Given the description of an element on the screen output the (x, y) to click on. 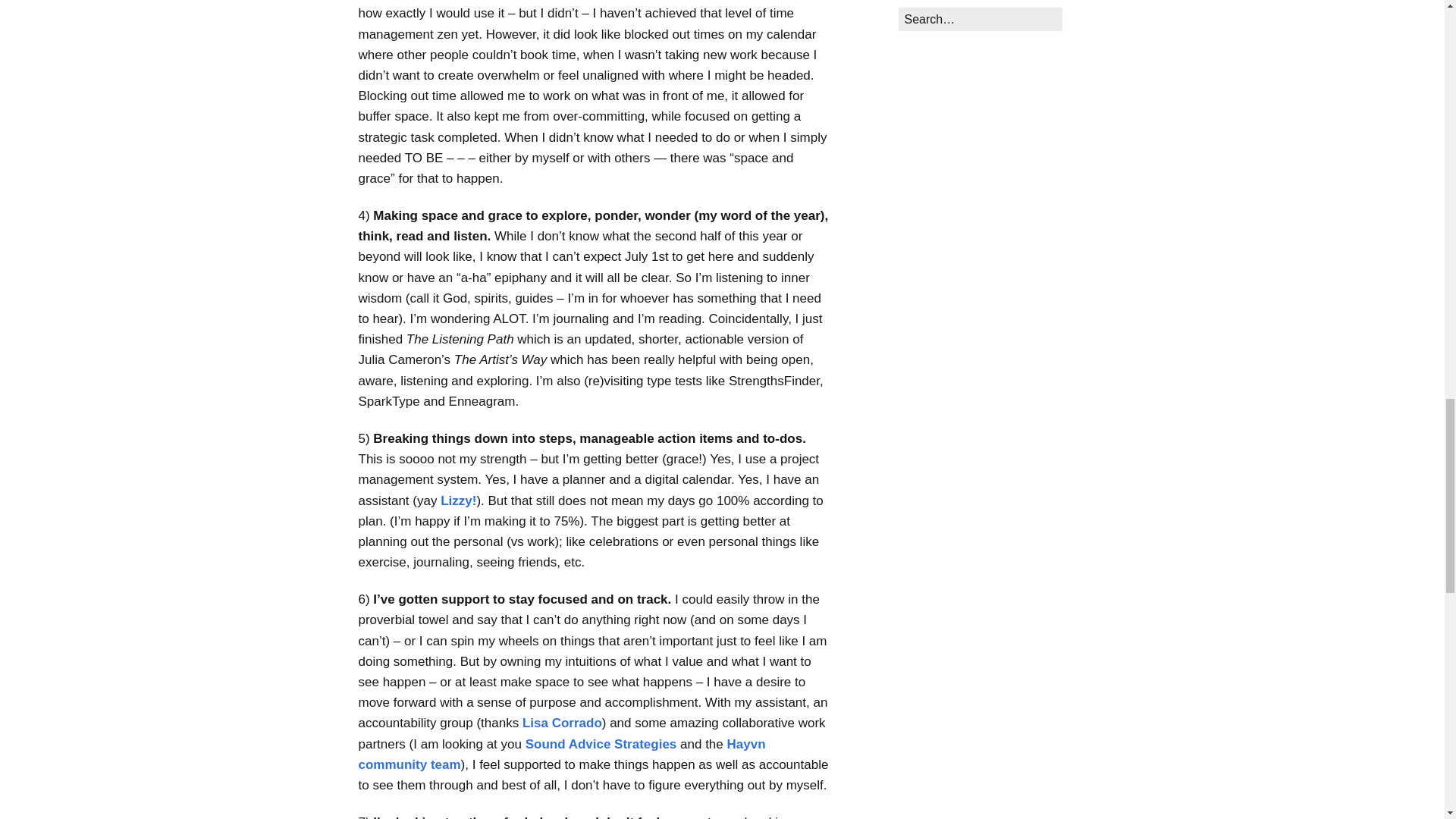
Lisa Corrado (562, 722)
Press Enter to submit your search (980, 19)
Hayvn community team (561, 754)
Lizzy! (458, 500)
Sound Advice Strategies (602, 744)
